Given the description of an element on the screen output the (x, y) to click on. 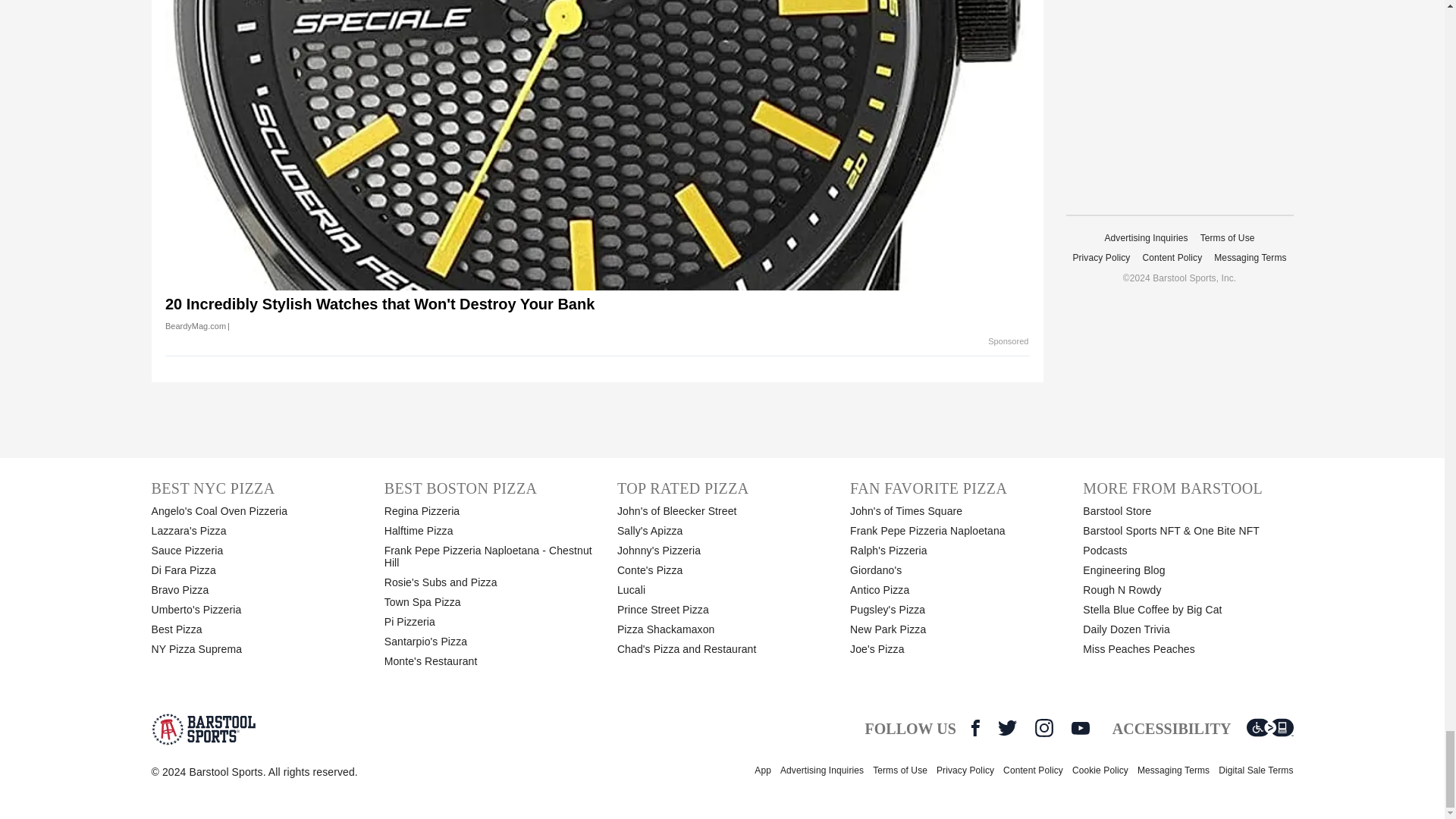
YouTube Icon (1080, 728)
Instagram Icon (1043, 728)
Level Access website accessibility icon (1270, 727)
Twitter Icon (1006, 728)
